Given the description of an element on the screen output the (x, y) to click on. 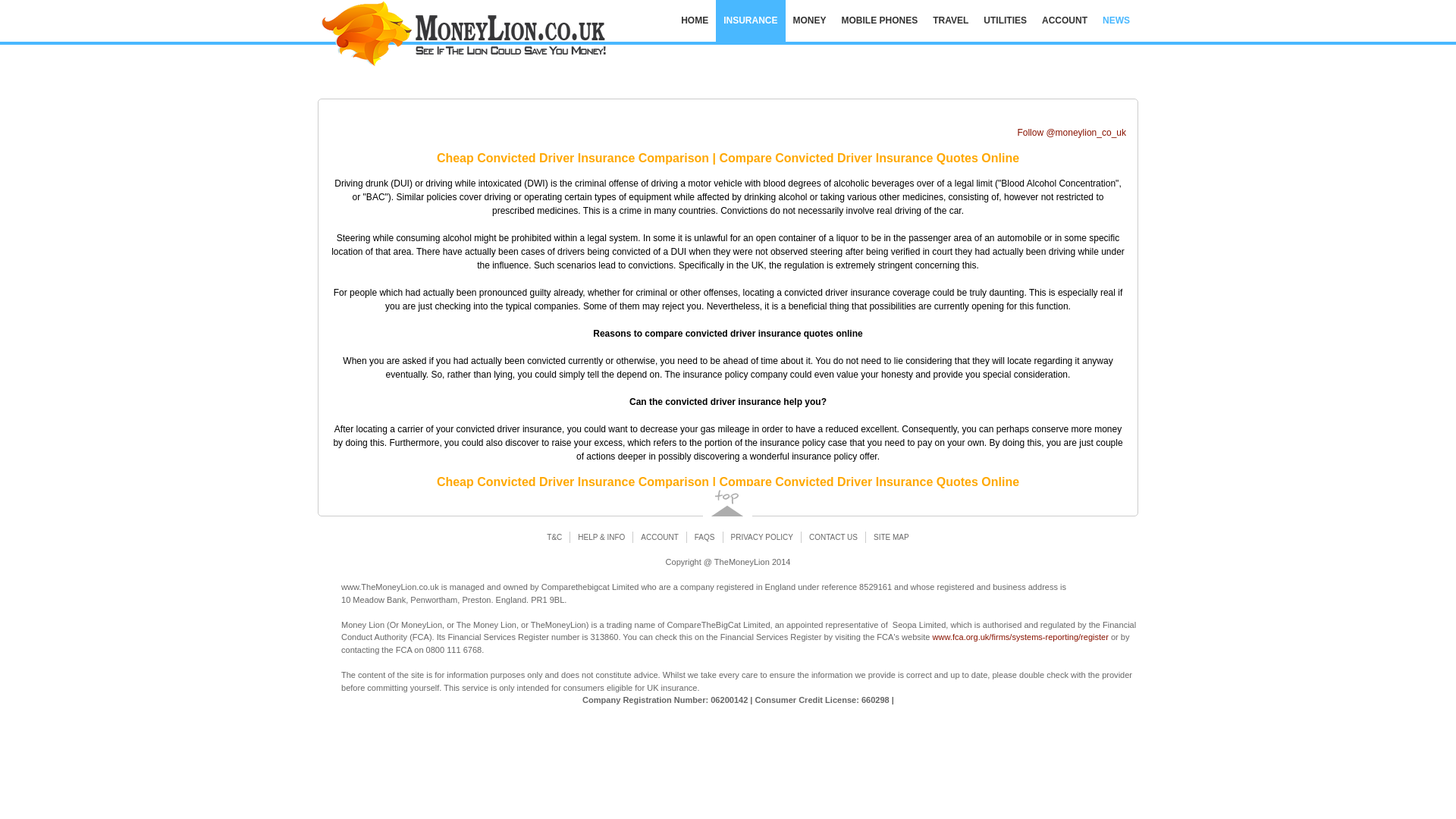
HOME (694, 20)
Insurance (750, 20)
Home (694, 20)
INSURANCE (750, 20)
MoneyLion (492, 36)
